Given the description of an element on the screen output the (x, y) to click on. 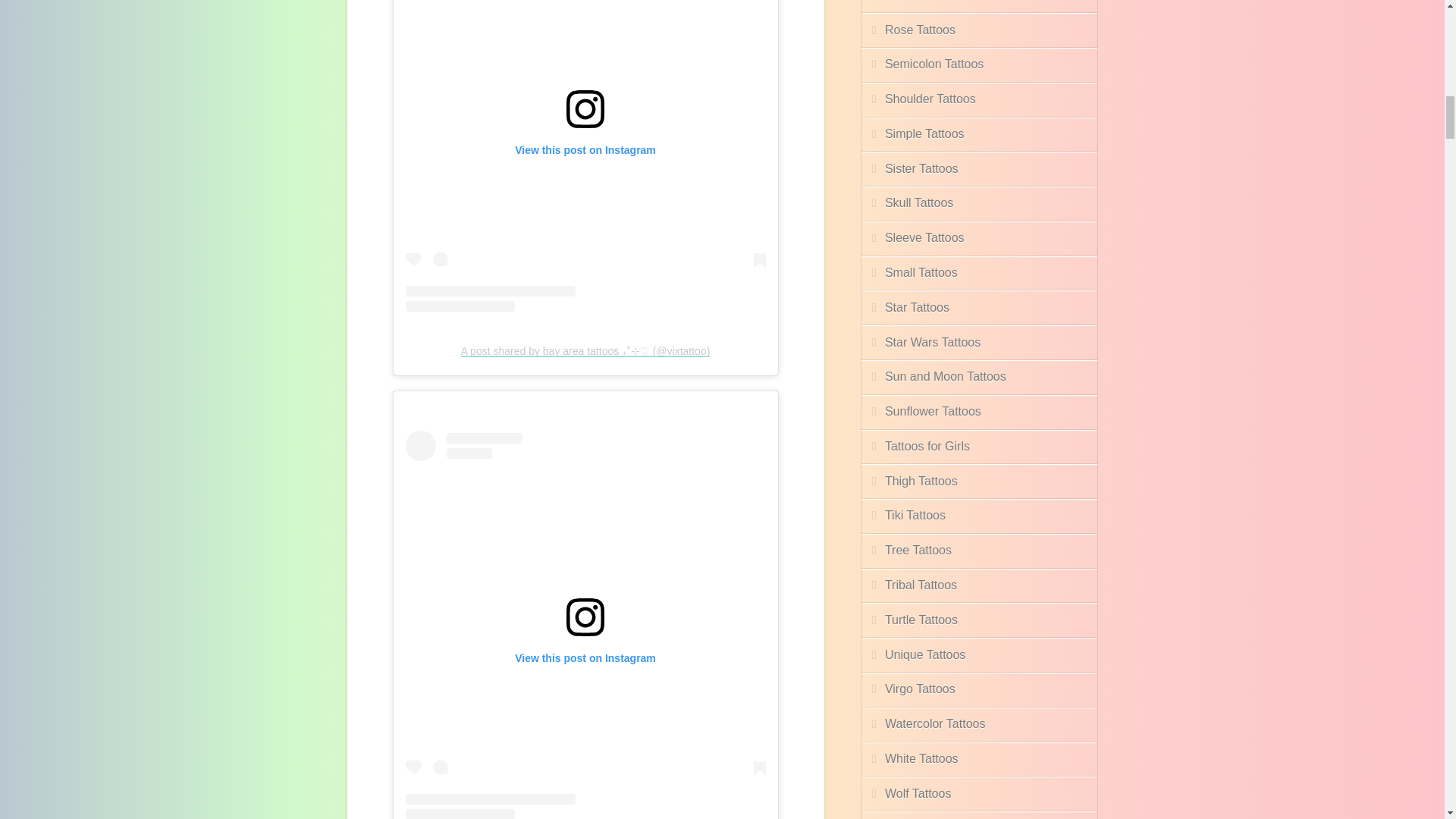
View this post on Instagram (584, 156)
